Given the description of an element on the screen output the (x, y) to click on. 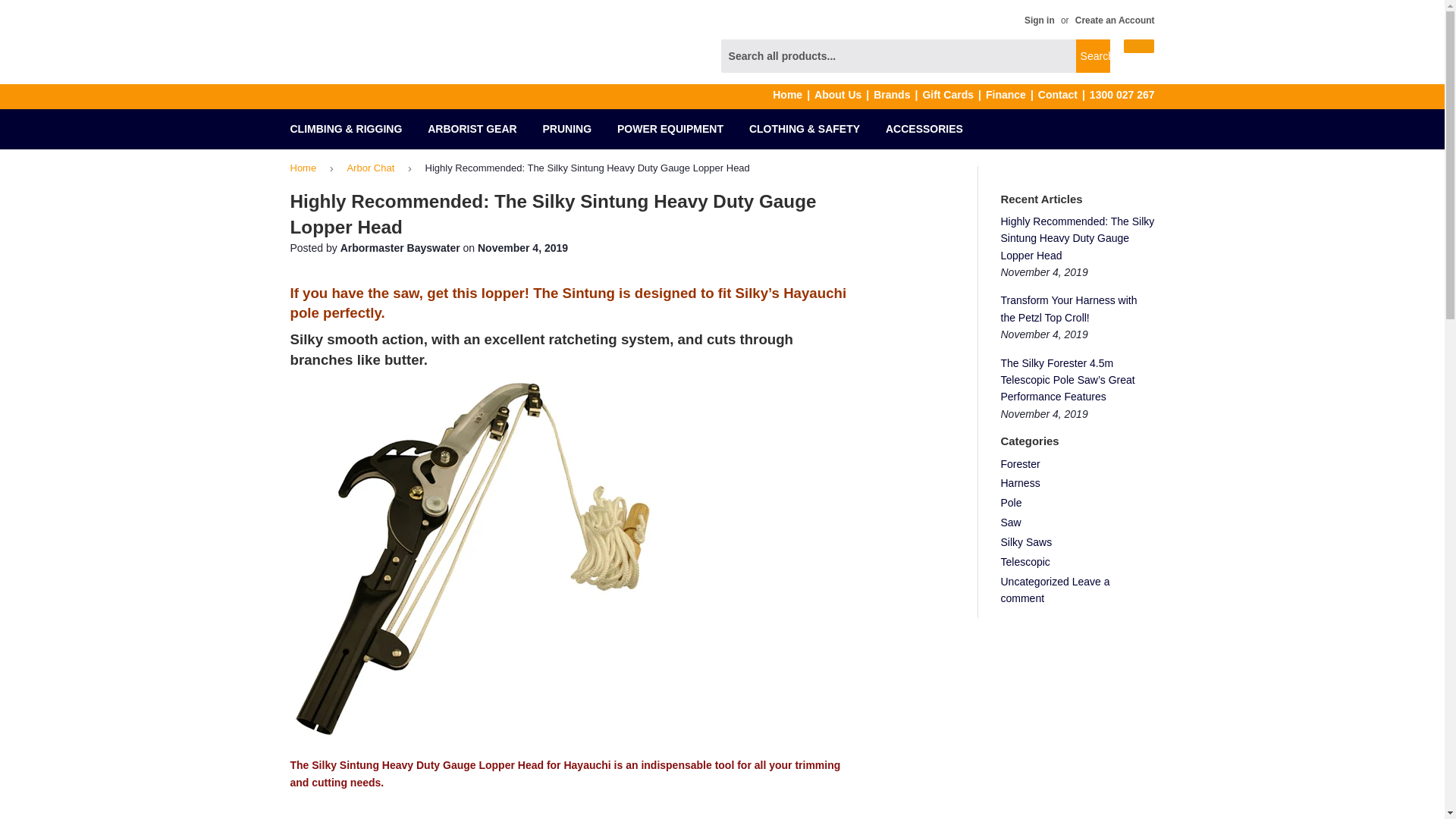
Show articles tagged Forester (1021, 463)
Gift Cards (953, 94)
Finance (1011, 94)
Sign in (1039, 20)
About Us (843, 94)
Home (793, 94)
Brands (897, 94)
Create an Account (1114, 20)
Show articles tagged Uncategorized	Leave a comment (1055, 589)
Show articles tagged Silky Saws (1026, 541)
Show articles tagged Pole (1011, 502)
Show articles tagged Saw (1011, 522)
Show articles tagged Telescopic (1025, 562)
Search (1092, 55)
Contact (1063, 94)
